Given the description of an element on the screen output the (x, y) to click on. 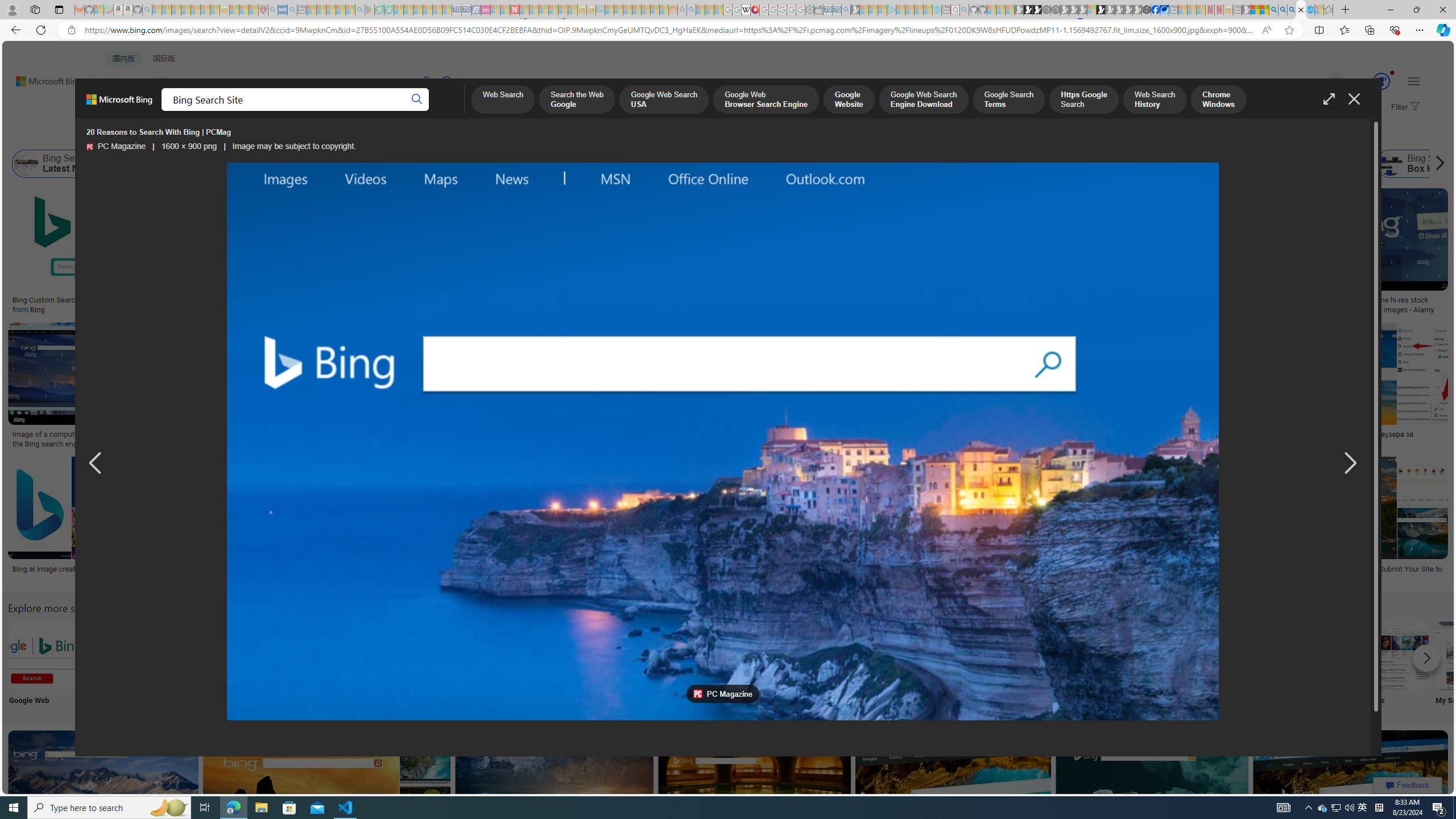
Tricks (1319, 665)
Bing Search Dark Mode (342, 654)
Bing Can Now Search for Any Object in an ImageSave (1134, 387)
